Given the description of an element on the screen output the (x, y) to click on. 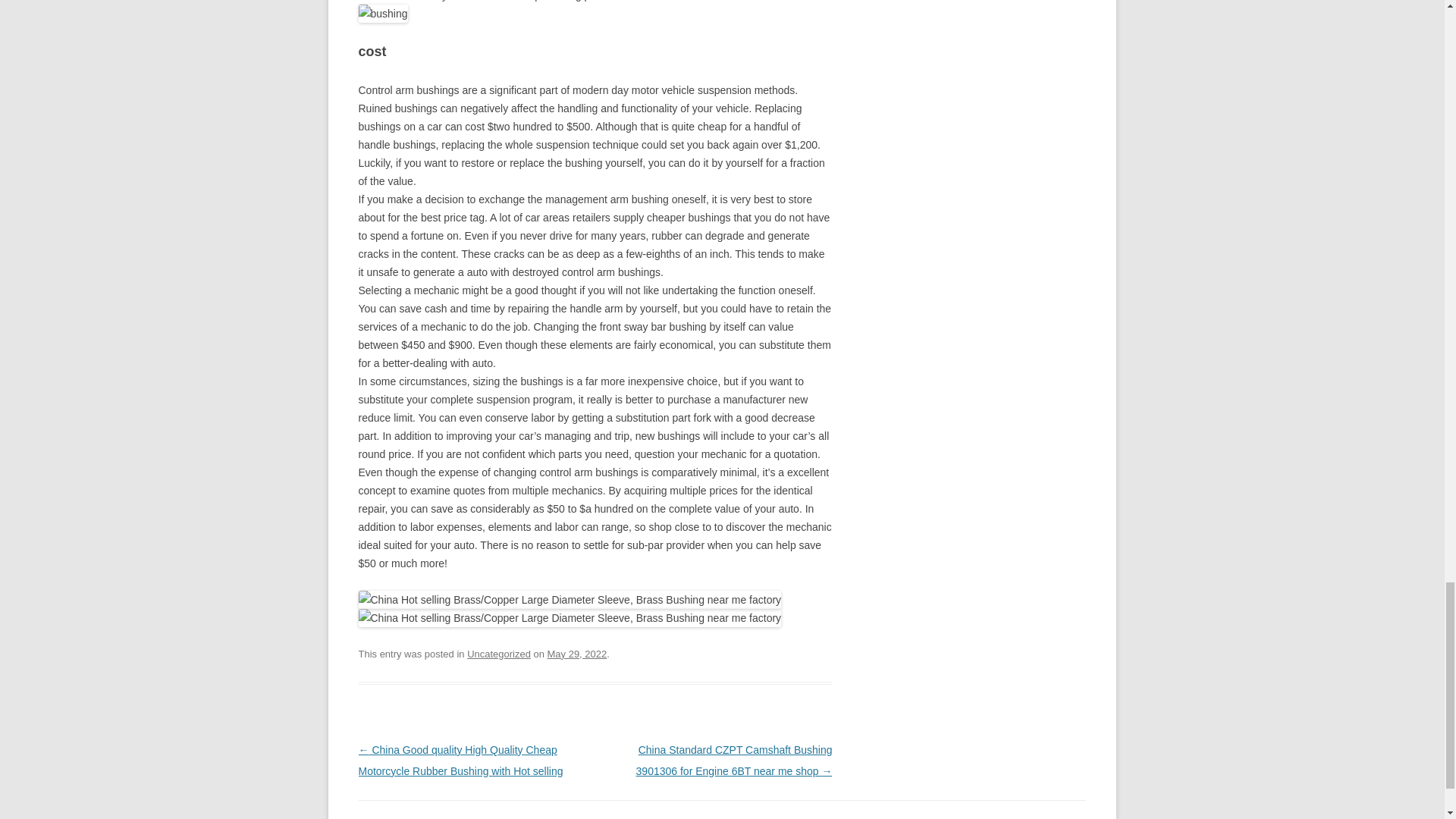
Uncategorized (499, 654)
May 29, 2022 (577, 654)
1:13 am (577, 654)
